Given the description of an element on the screen output the (x, y) to click on. 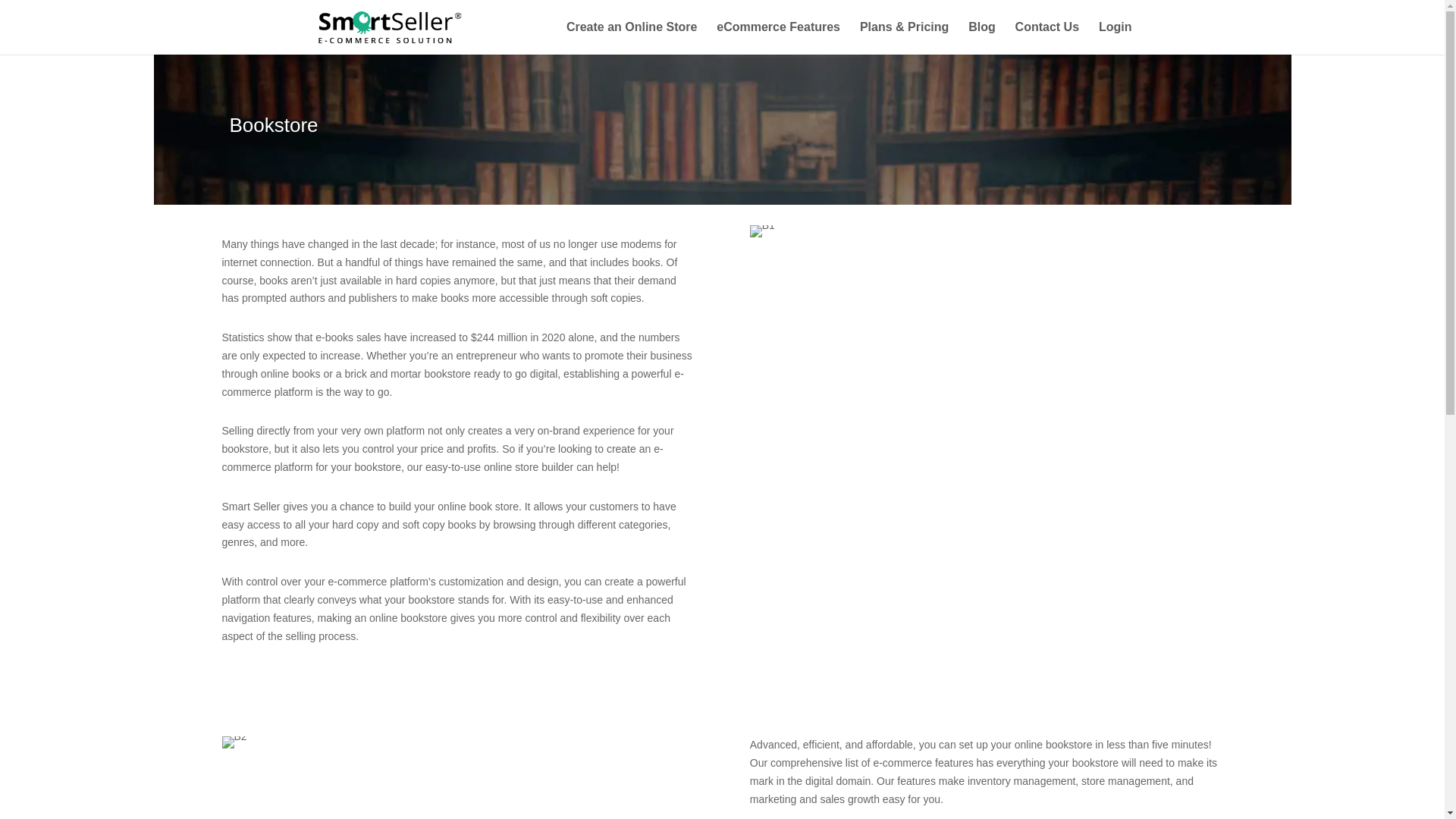
Contact Us (1046, 38)
eCommerce Features (778, 38)
B2 (233, 742)
Create an Online Store (631, 38)
B1 (761, 231)
Login (1115, 38)
